Given the description of an element on the screen output the (x, y) to click on. 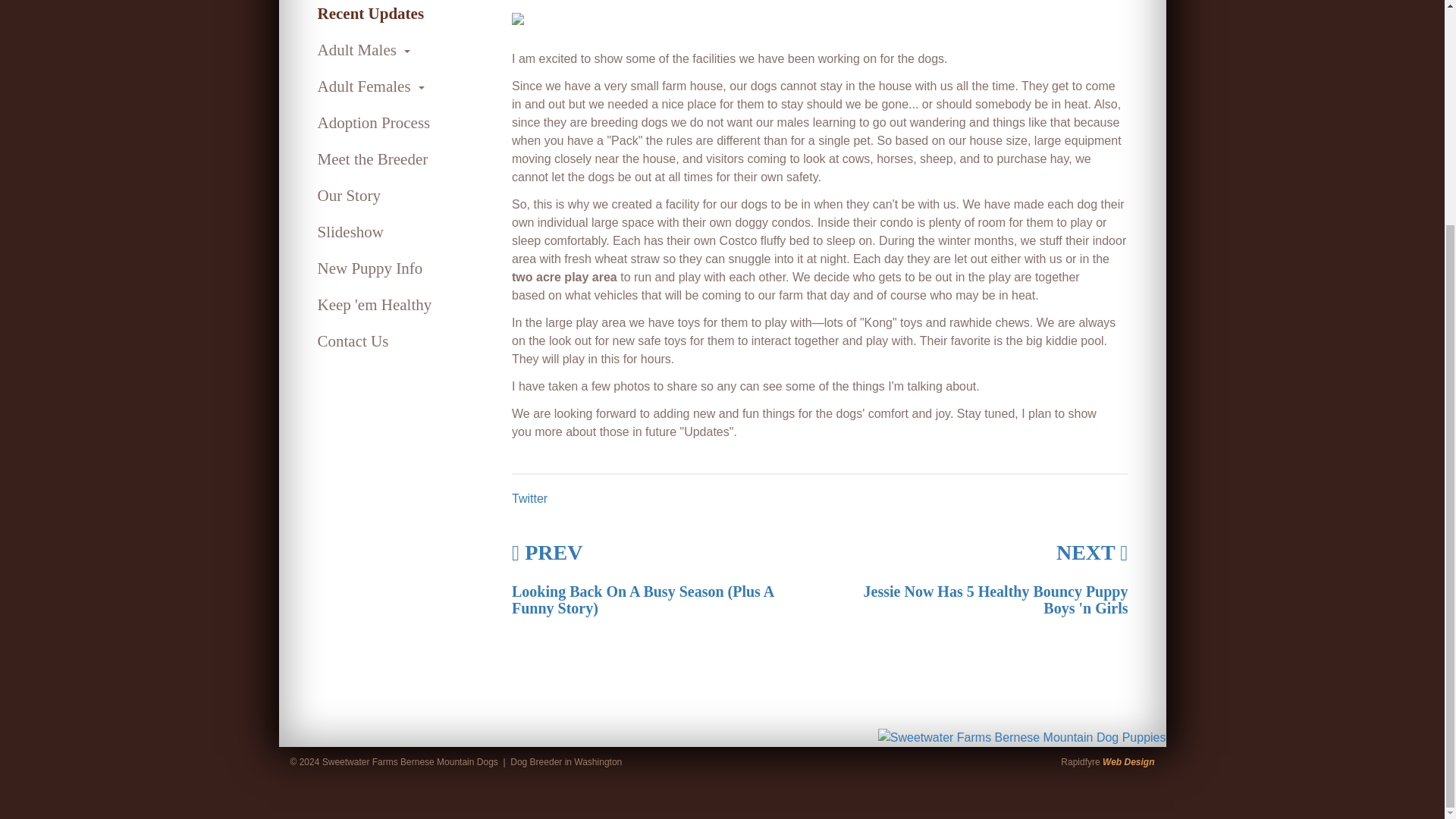
Contact Us (402, 340)
Recent Updates (402, 15)
Slideshow (402, 231)
PREV (547, 552)
Adult Females (402, 85)
New Puppy Info (402, 268)
Recent Updates (402, 15)
Adult Males (402, 49)
Meet the Breeder (402, 158)
Twitter (529, 498)
